Given the description of an element on the screen output the (x, y) to click on. 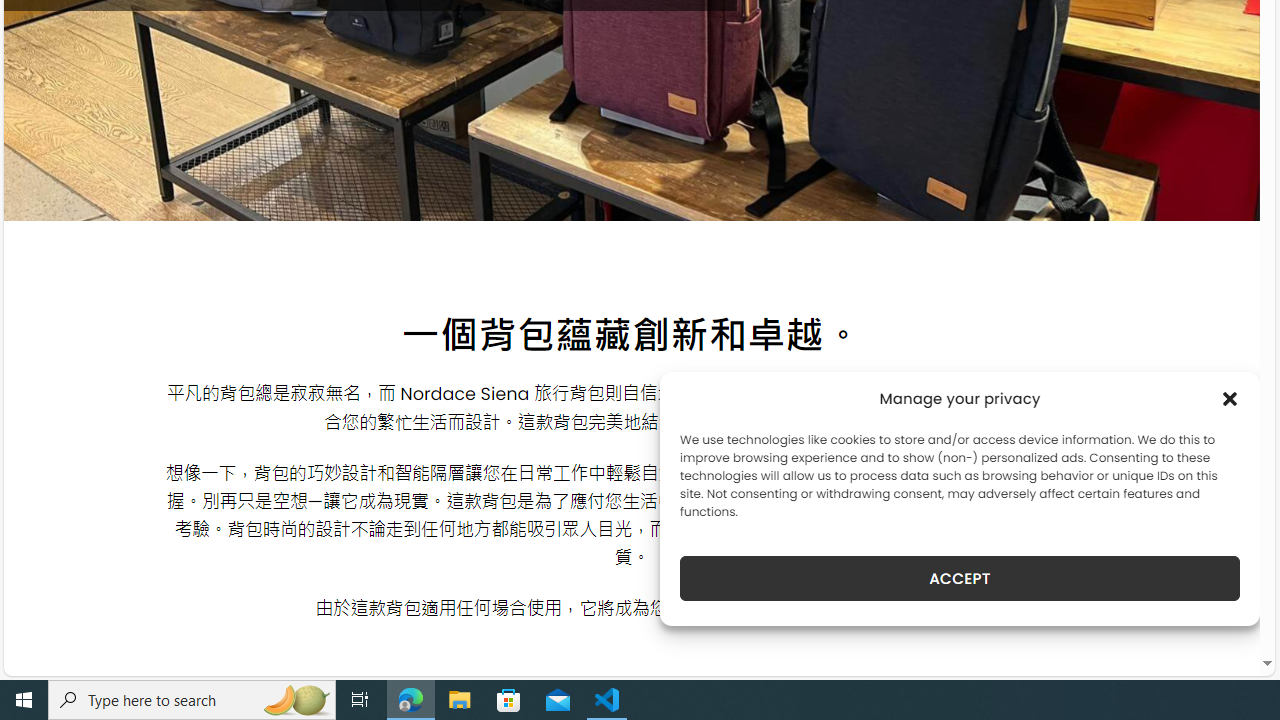
ACCEPT (959, 578)
Class: cmplz-close (1229, 398)
